Given the description of an element on the screen output the (x, y) to click on. 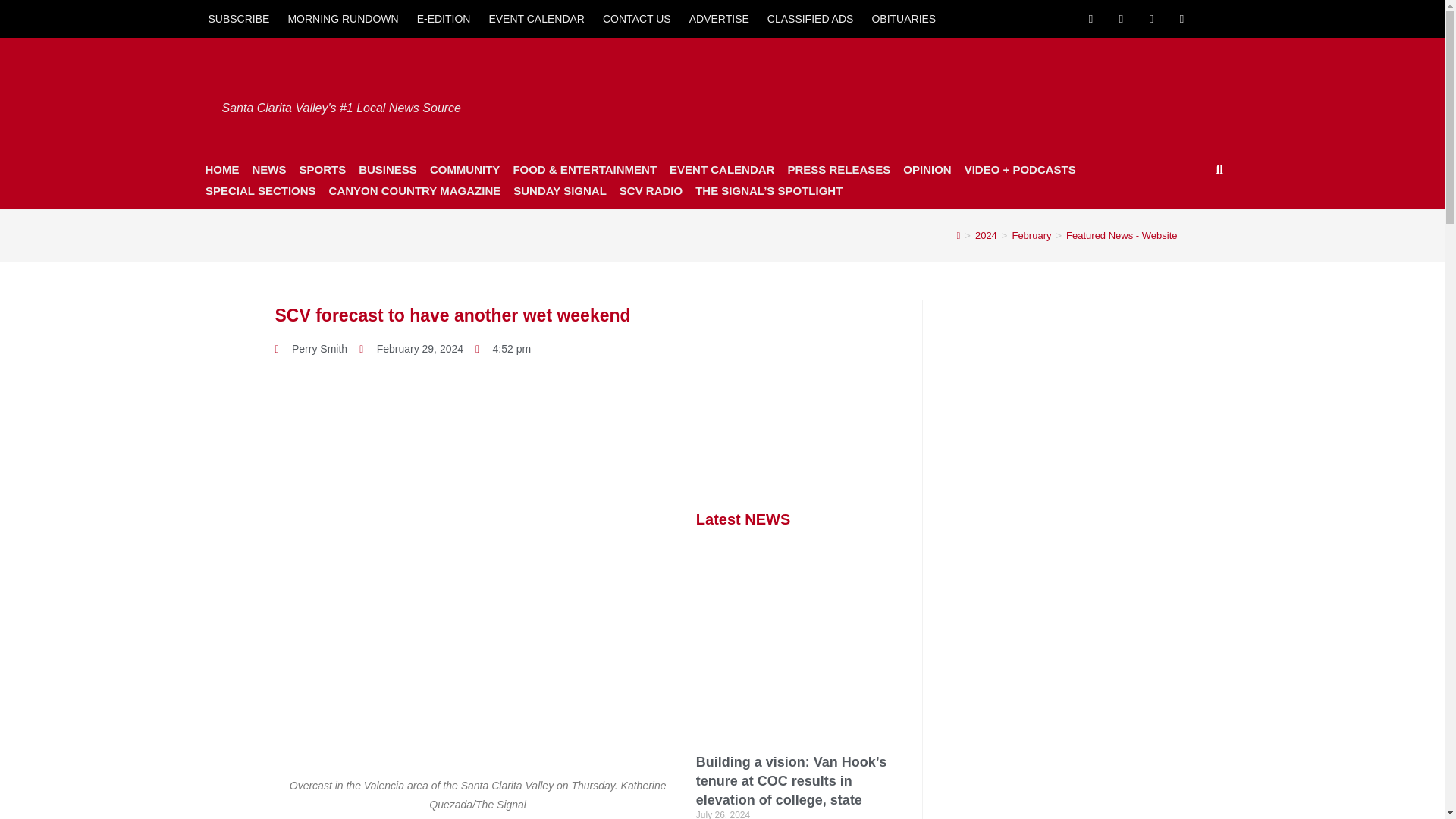
ADVERTISE (718, 18)
SPORTS (322, 169)
SUBSCRIBE (238, 18)
NEWS (269, 169)
CONTACT US (636, 18)
E-EDITION (443, 18)
MORNING RUNDOWN (342, 18)
HOME (221, 169)
EVENT CALENDAR (536, 18)
OBITUARIES (902, 18)
CLASSIFIED ADS (810, 18)
